Given the description of an element on the screen output the (x, y) to click on. 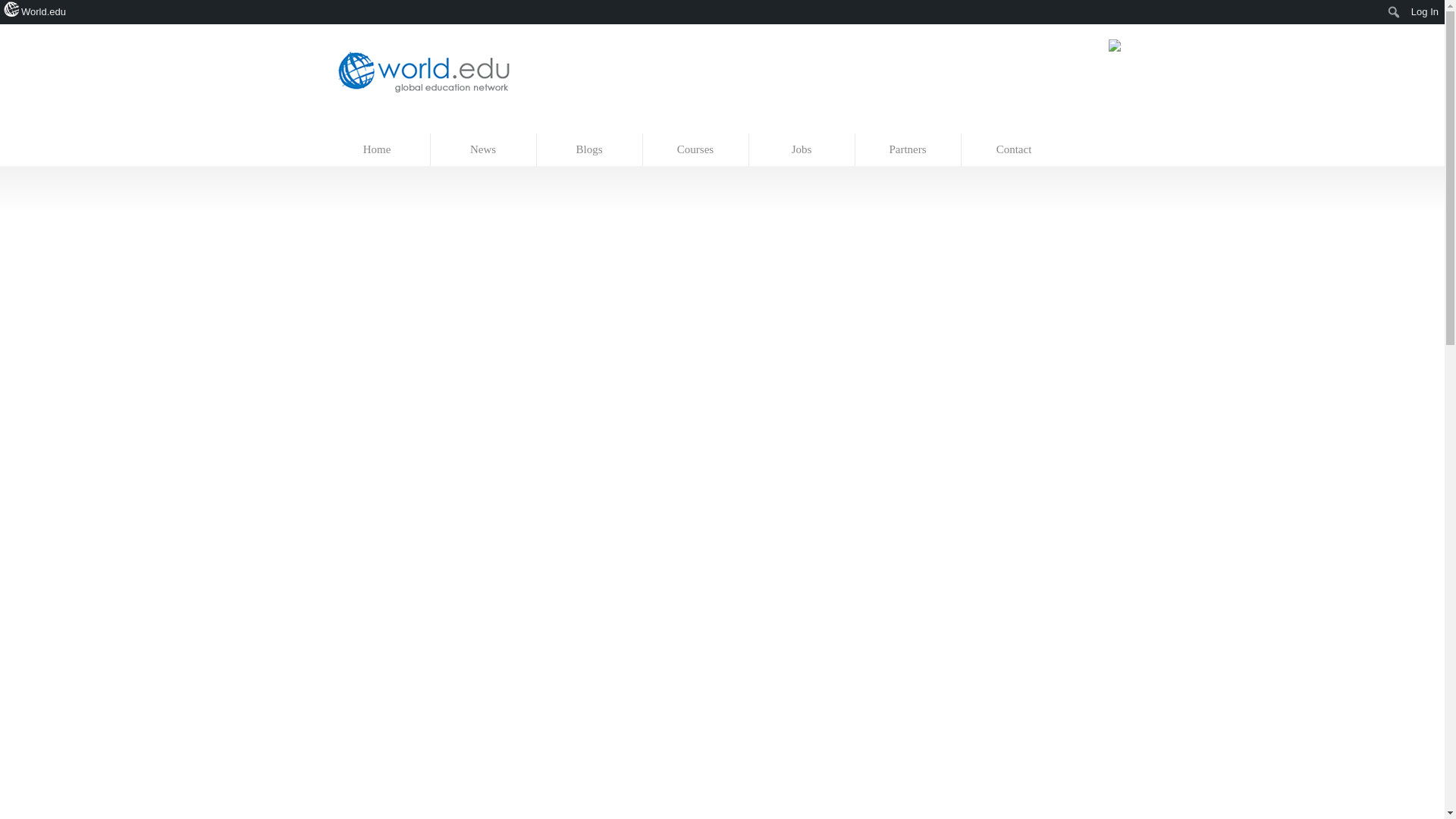
News (483, 149)
Skip to content (357, 125)
Partners (908, 149)
Contact (1013, 149)
Blogs (590, 149)
Courses (696, 149)
Jobs (802, 149)
Skip to content (357, 125)
Home (377, 149)
